Given the description of an element on the screen output the (x, y) to click on. 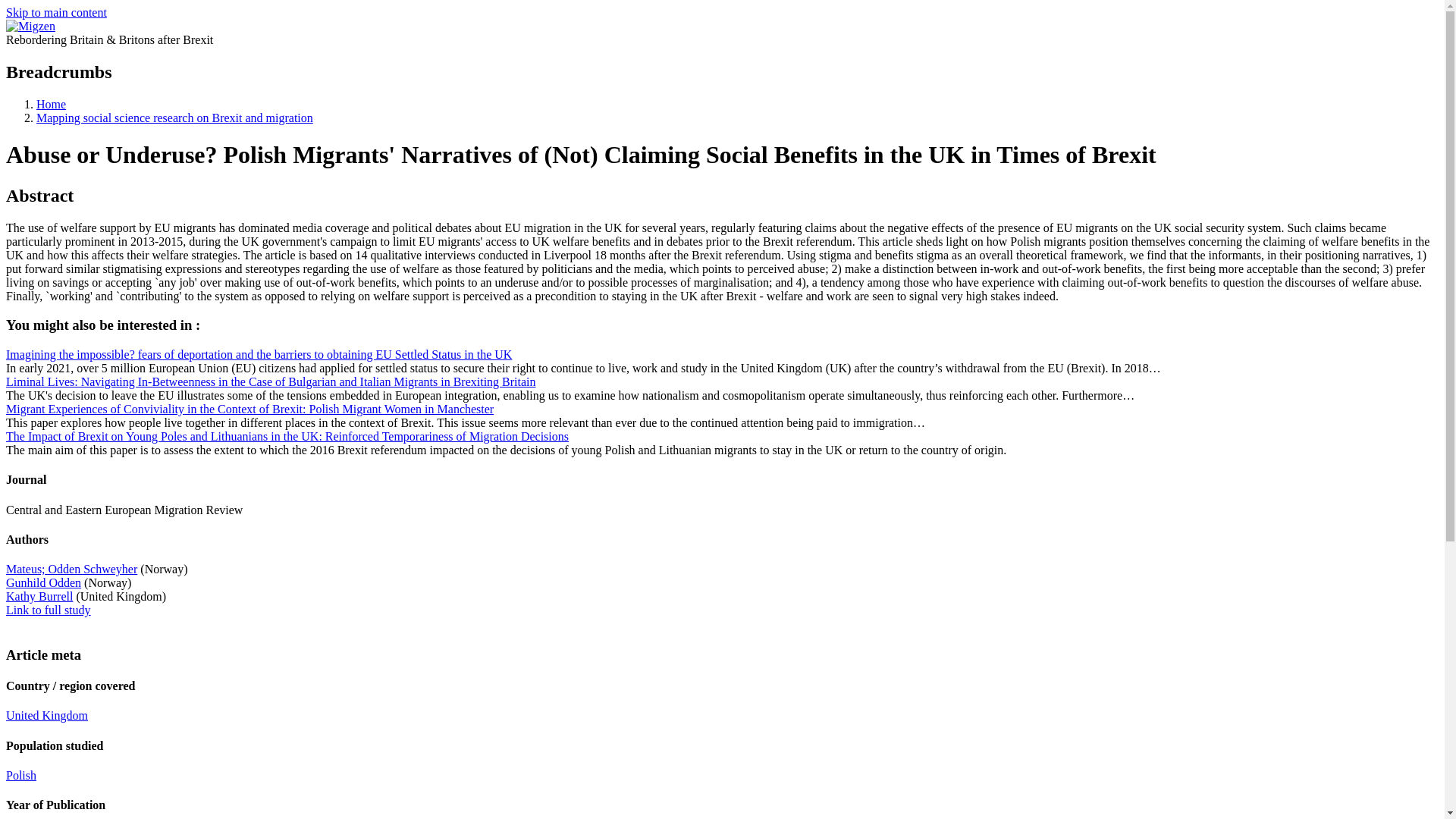
Mateus; Odden Schweyher (70, 568)
Mapping social science research on Brexit and migration (174, 117)
United Kingdom (46, 715)
Polish (20, 775)
Home (50, 103)
Gunhild Odden (43, 582)
